Given the description of an element on the screen output the (x, y) to click on. 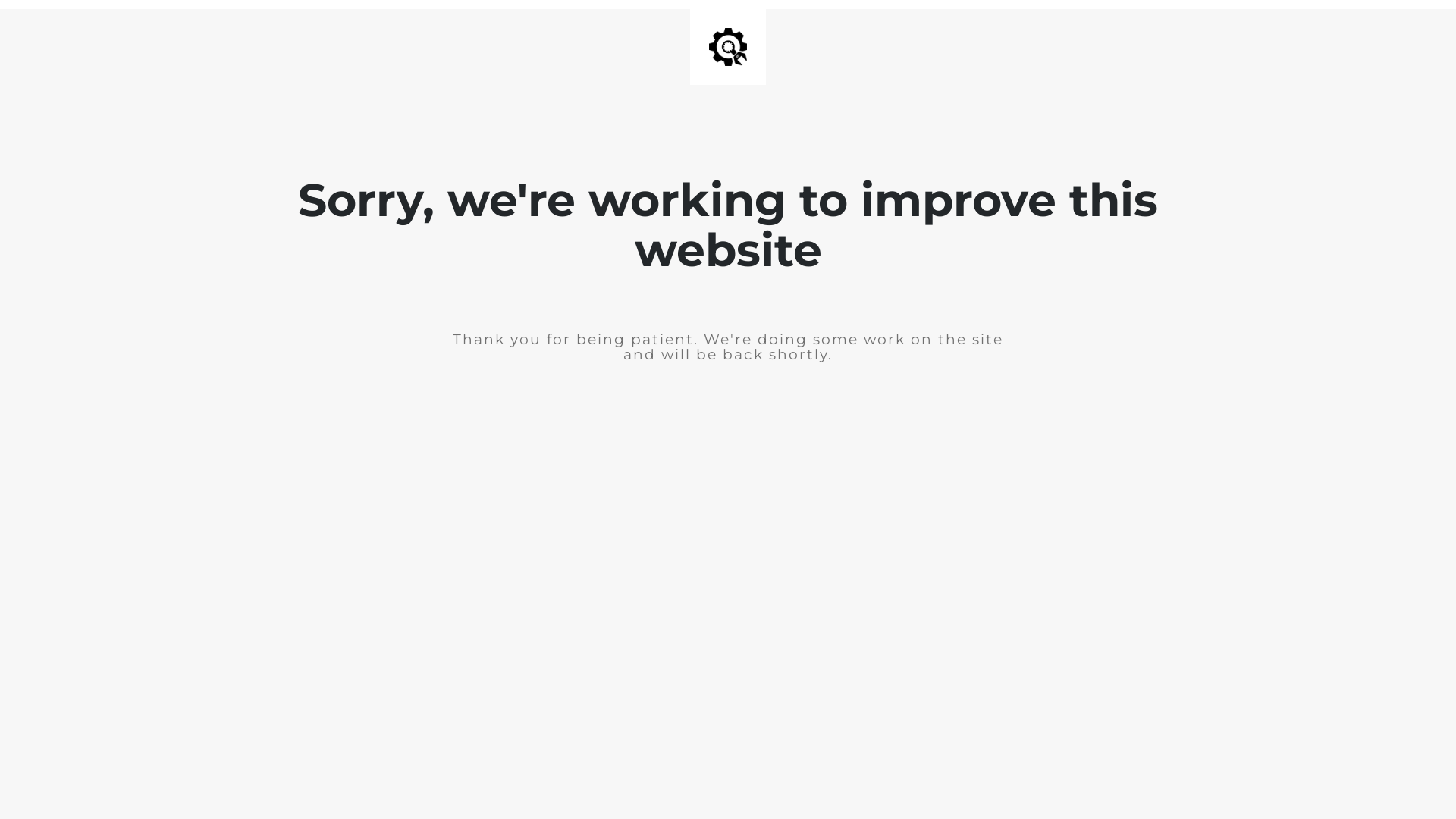
Site is Under Construction Element type: hover (727, 46)
